Given the description of an element on the screen output the (x, y) to click on. 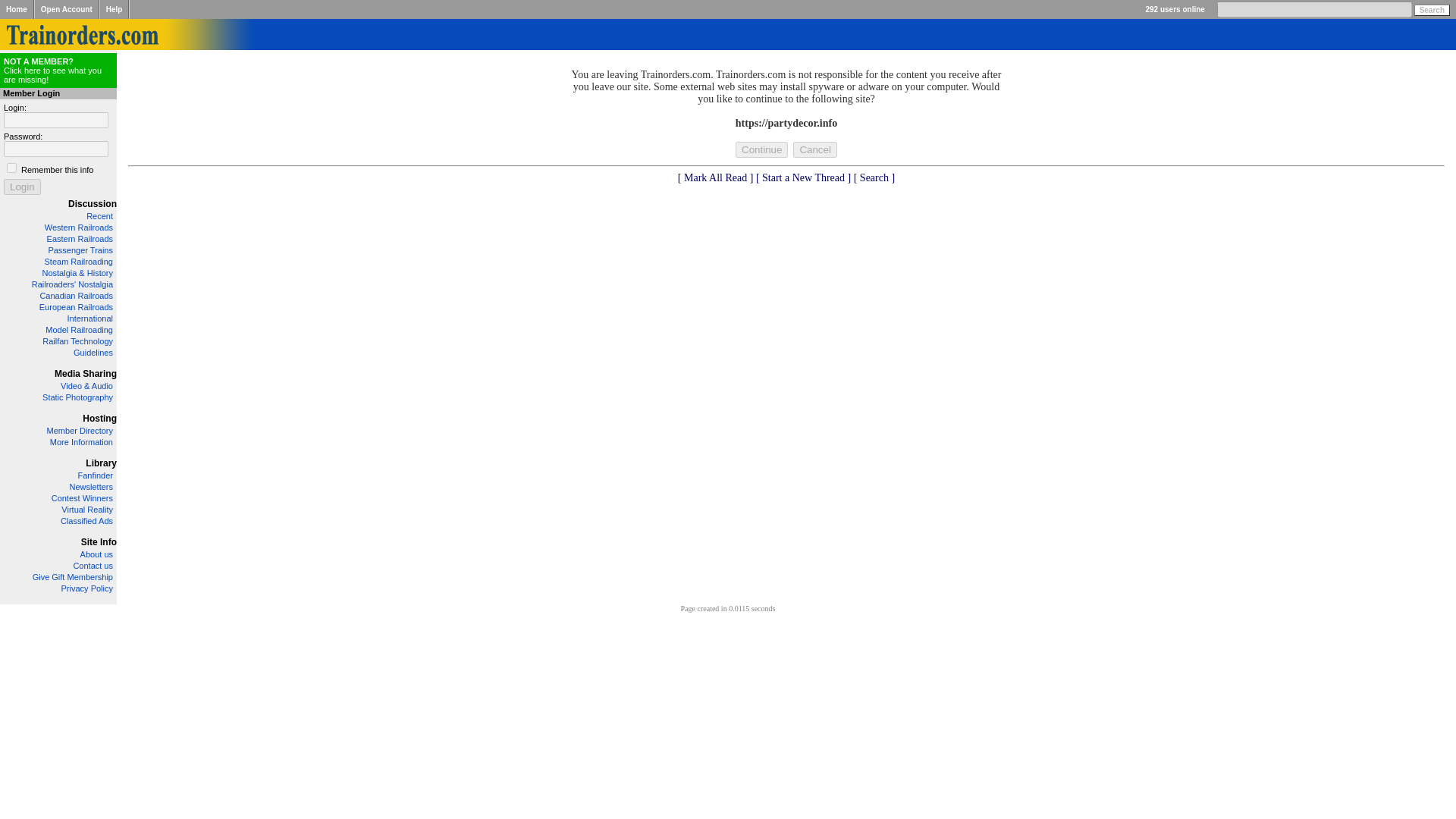
Western Railroads (79, 226)
About us (96, 553)
Contact us (92, 565)
European Railroads (76, 307)
Newsletters (91, 486)
Recent (99, 215)
Open Account (66, 8)
Media Sharing (85, 373)
Site Info (98, 542)
Login (22, 186)
Fanfinder (95, 474)
Give Gift Membership (72, 576)
Help (114, 8)
Privacy Policy (87, 587)
Eastern Railroads (79, 238)
